Given the description of an element on the screen output the (x, y) to click on. 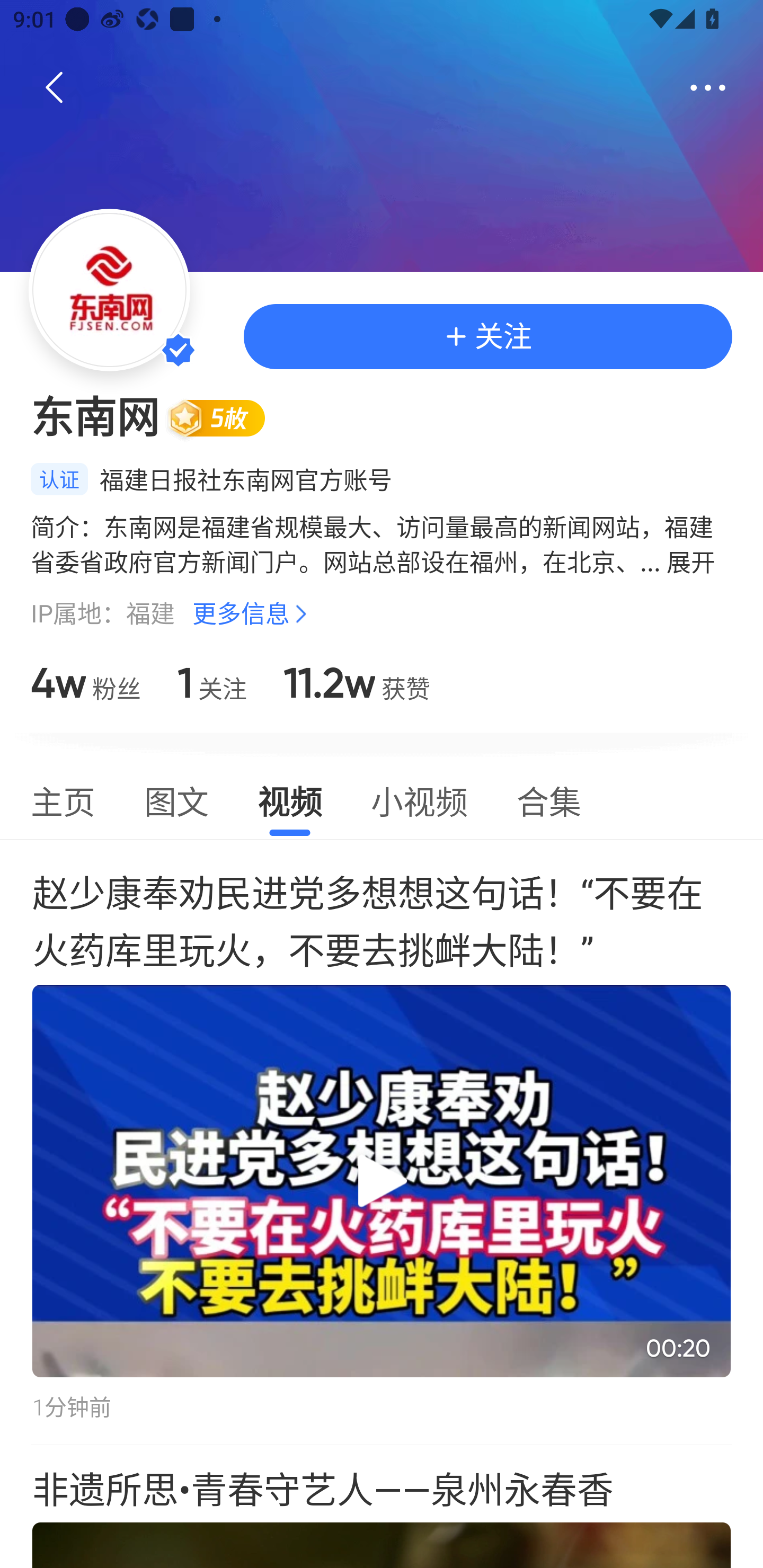
 返回 (54, 87)
 更多 (707, 87)
 关注 (487, 336)
5枚 (223, 417)
认证 (58, 478)
4w 粉丝 (85, 683)
1 关注 (212, 683)
11.2w 获赞 (356, 683)
主页 (62, 798)
图文 (176, 798)
视频 (289, 798)
小视频 (419, 798)
合集 (548, 798)
赵少康奉劝民进党多想想这句话！“不要在火药库里玩火，不要去挑衅大陆！” 00:20 1分钟前 (381, 1142)
非遗所思•青春守艺人——泉州永春香 (381, 1506)
